Given the description of an element on the screen output the (x, y) to click on. 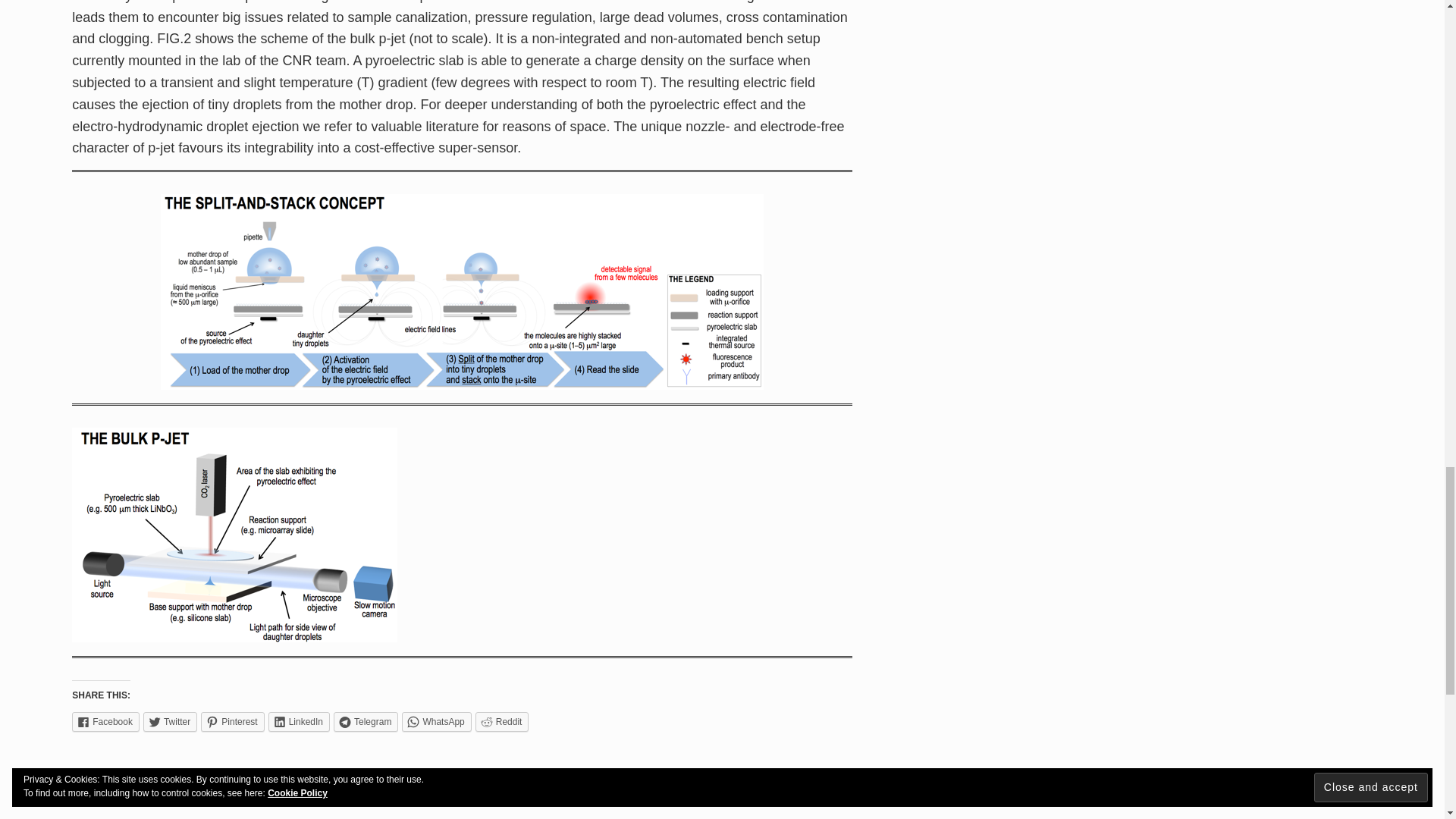
Click to share on Telegram (365, 721)
Click to share on Reddit (502, 721)
Click to share on Pinterest (231, 721)
Click to share on LinkedIn (298, 721)
Click to share on Twitter (169, 721)
Click to share on WhatsApp (435, 721)
Click to share on Facebook (105, 721)
